Given the description of an element on the screen output the (x, y) to click on. 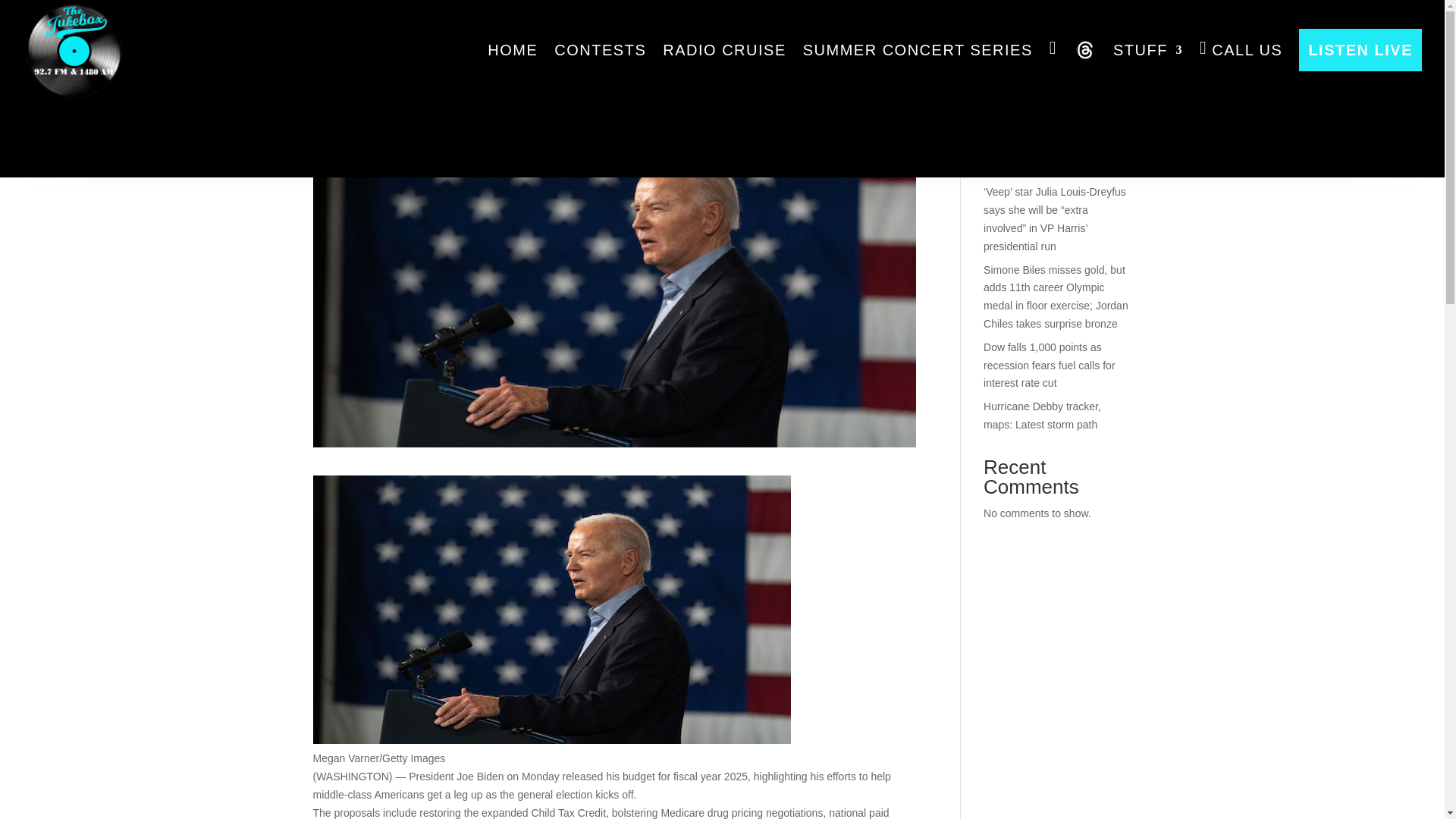
CONTESTS (600, 49)
RADIO CRUISE (724, 49)
Politics (451, 82)
Posts by admin (340, 82)
LISTEN LIVE (1360, 49)
admin (340, 82)
Search (1106, 59)
